Given the description of an element on the screen output the (x, y) to click on. 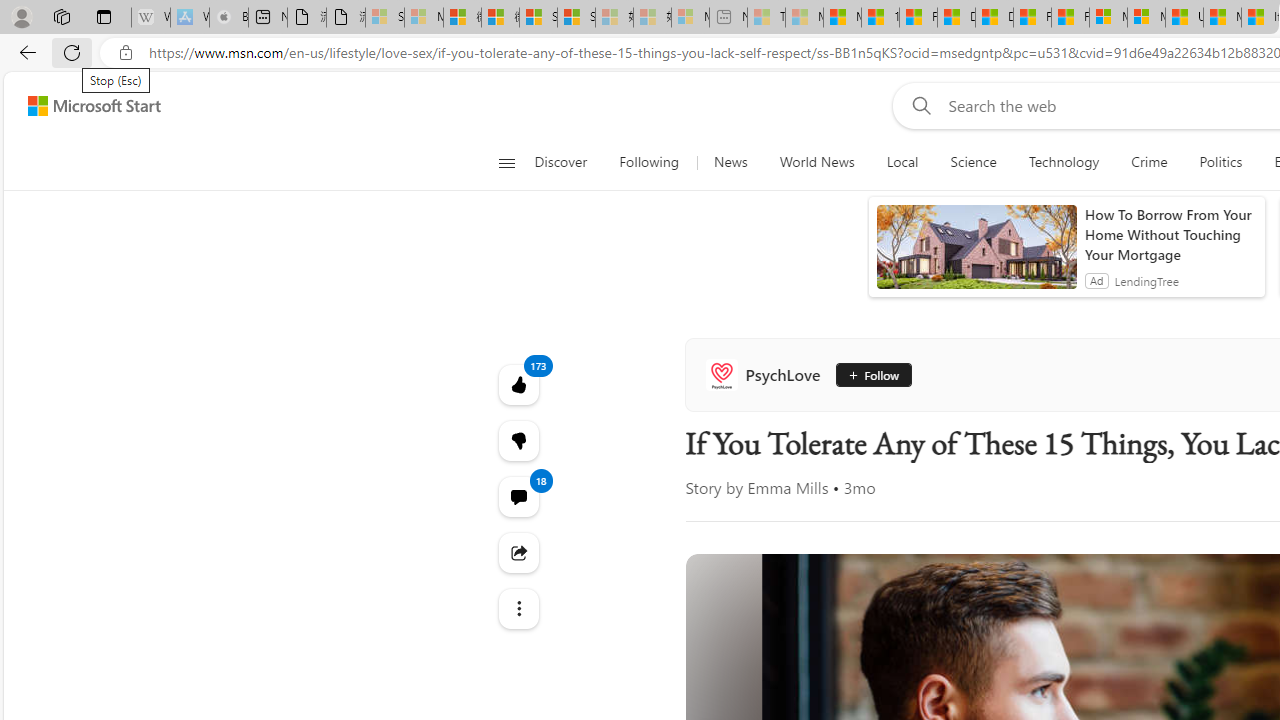
LendingTree (1145, 280)
Sign in to your Microsoft account - Sleeping (385, 17)
173 (517, 440)
